Given the description of an element on the screen output the (x, y) to click on. 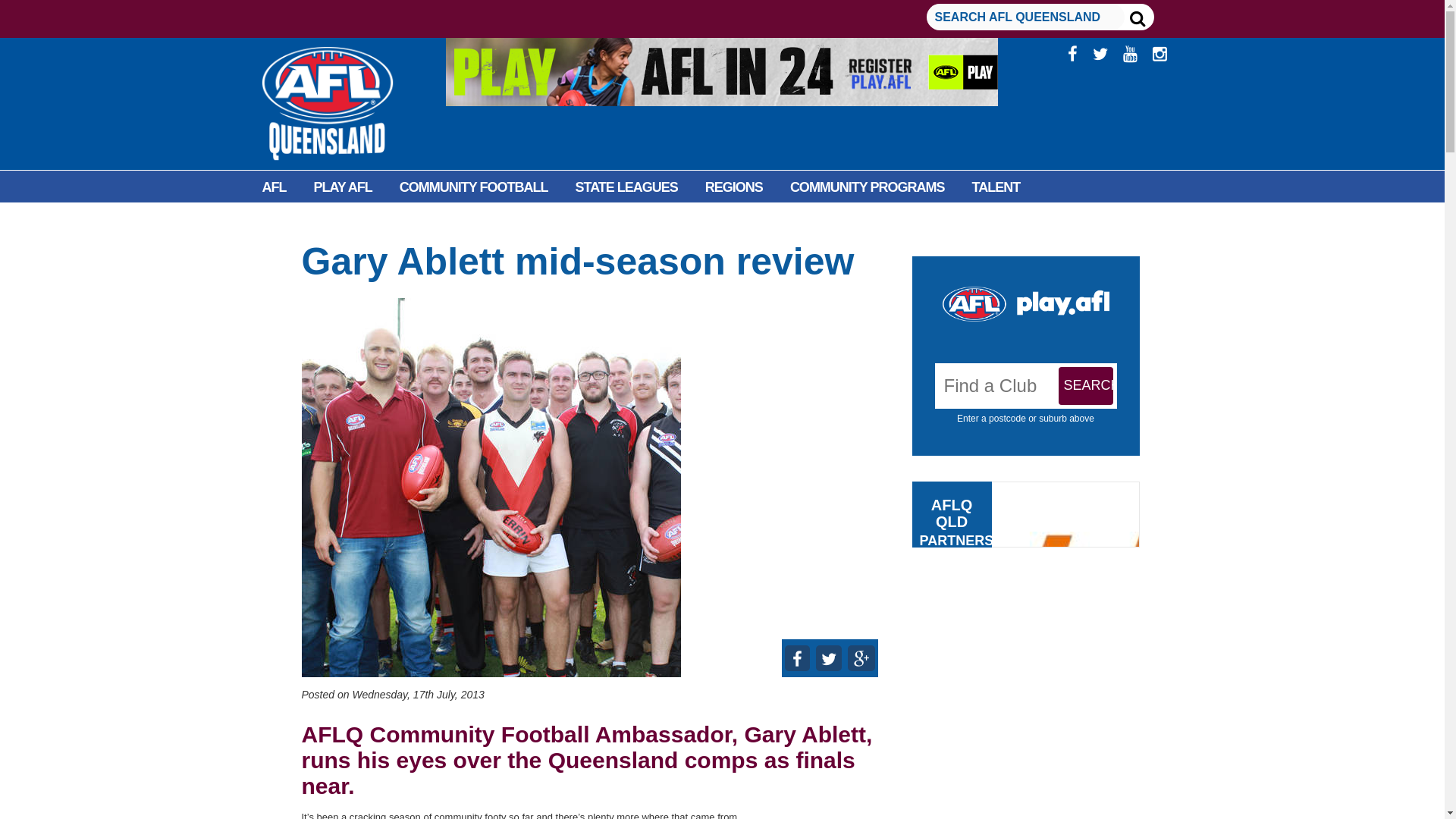
PLAY AFL (342, 187)
COMMUNITY FOOTBALL (473, 187)
Search (1085, 385)
TALENT (995, 187)
Search (1085, 385)
REGIONS (733, 187)
FACILITIES (295, 221)
INFORMATION HUB (414, 221)
COMMUNITY PROGRAMS (867, 187)
AFL (273, 187)
STATE LEAGUES (626, 187)
